Given the description of an element on the screen output the (x, y) to click on. 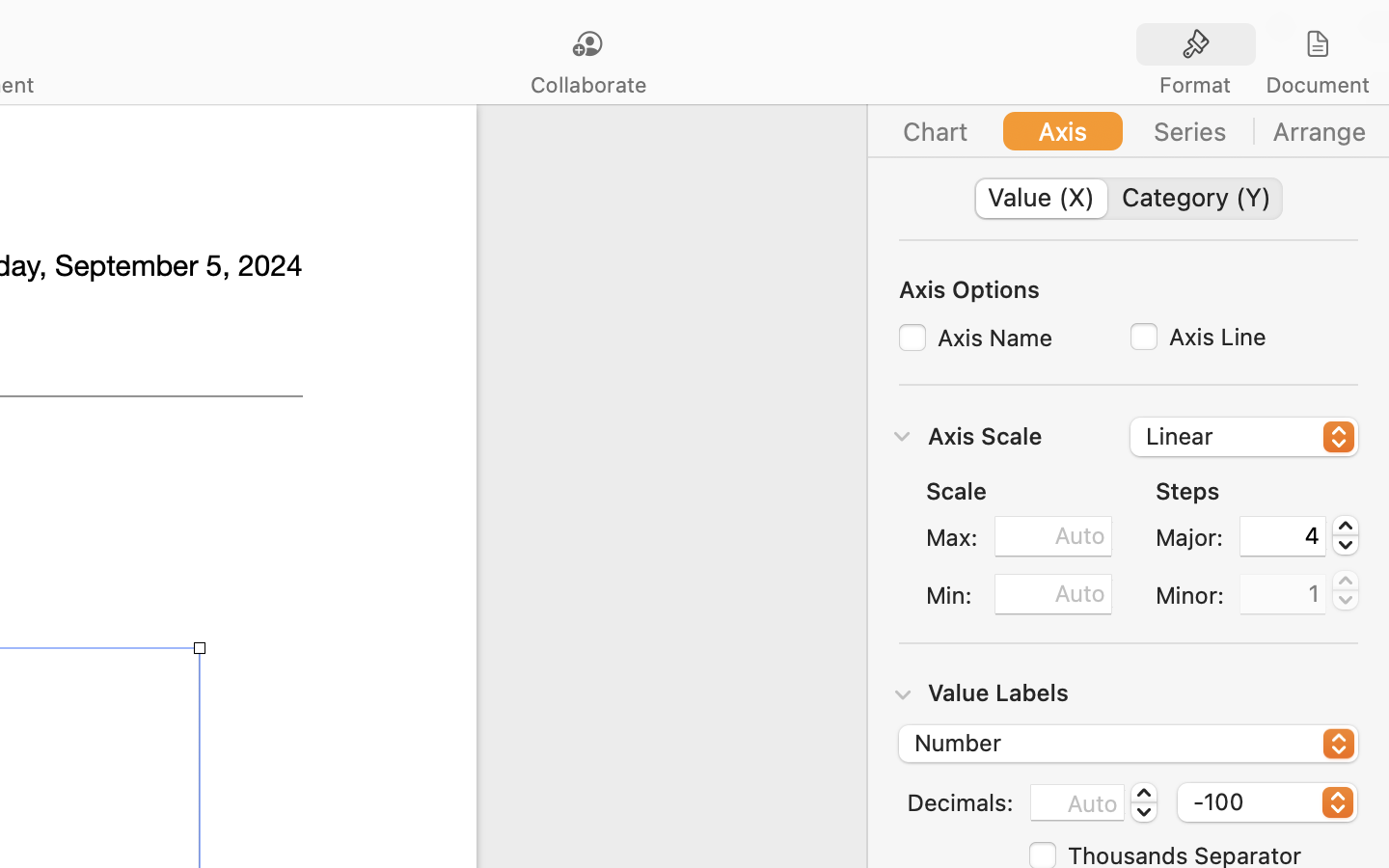
Number Element type: AXPopUpButton (1129, 746)
Document Element type: AXStaticText (1316, 84)
Axis Scale Element type: AXStaticText (984, 434)
Format Element type: AXStaticText (1194, 84)
